Given the description of an element on the screen output the (x, y) to click on. 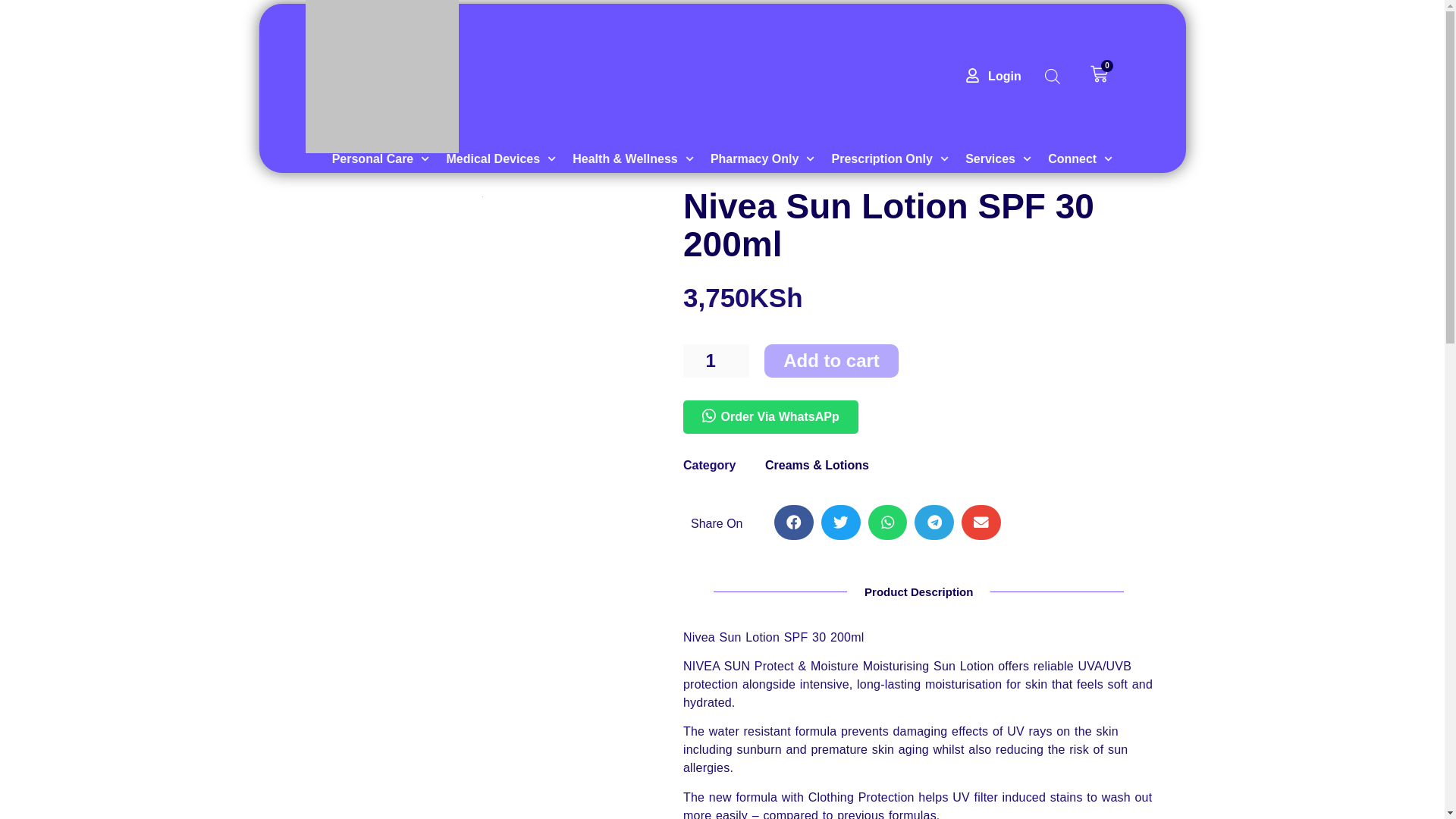
1 (715, 360)
Personal Care (380, 114)
Login (991, 3)
